Given the description of an element on the screen output the (x, y) to click on. 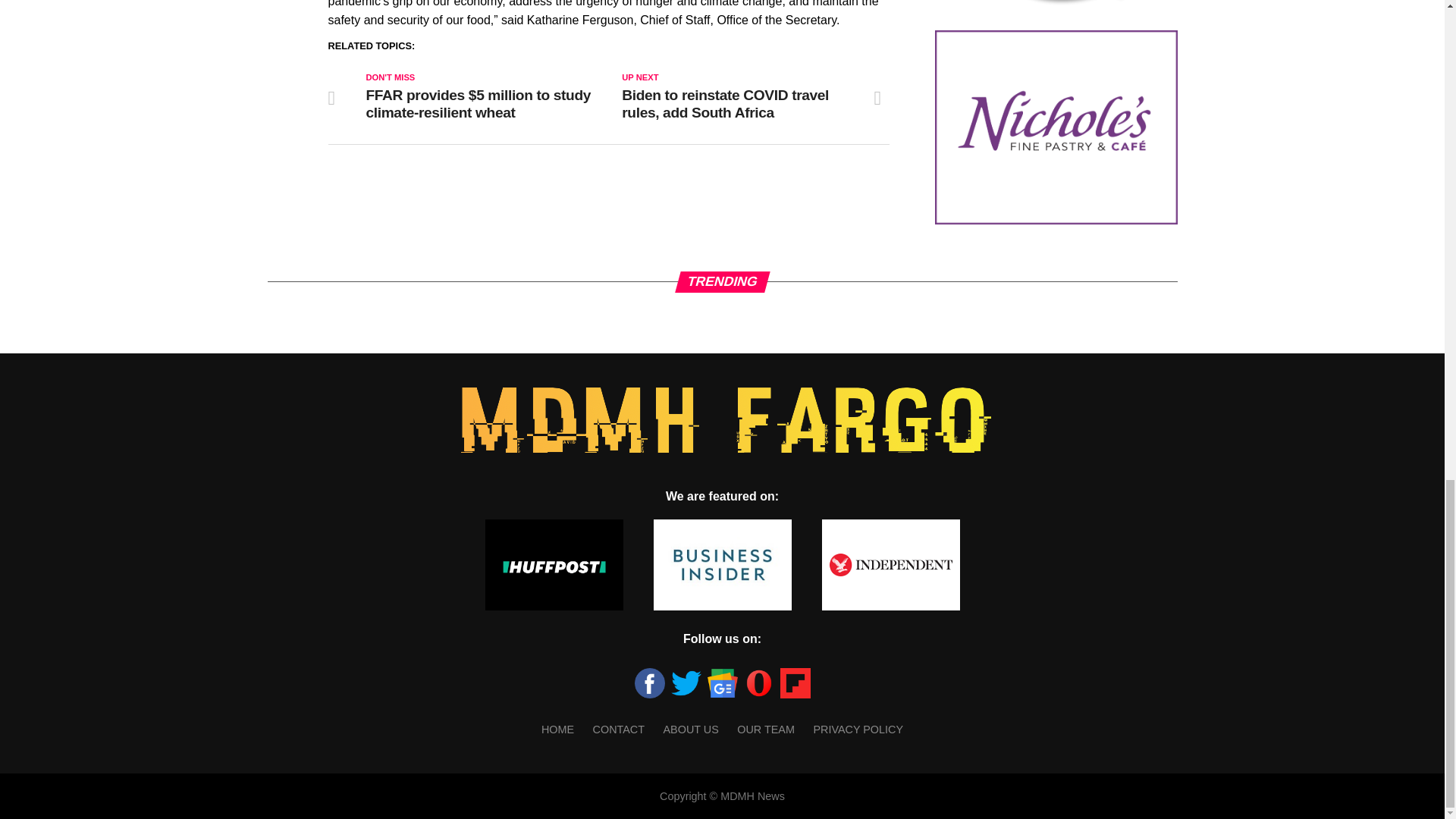
Advertisement (1055, 127)
